Given the description of an element on the screen output the (x, y) to click on. 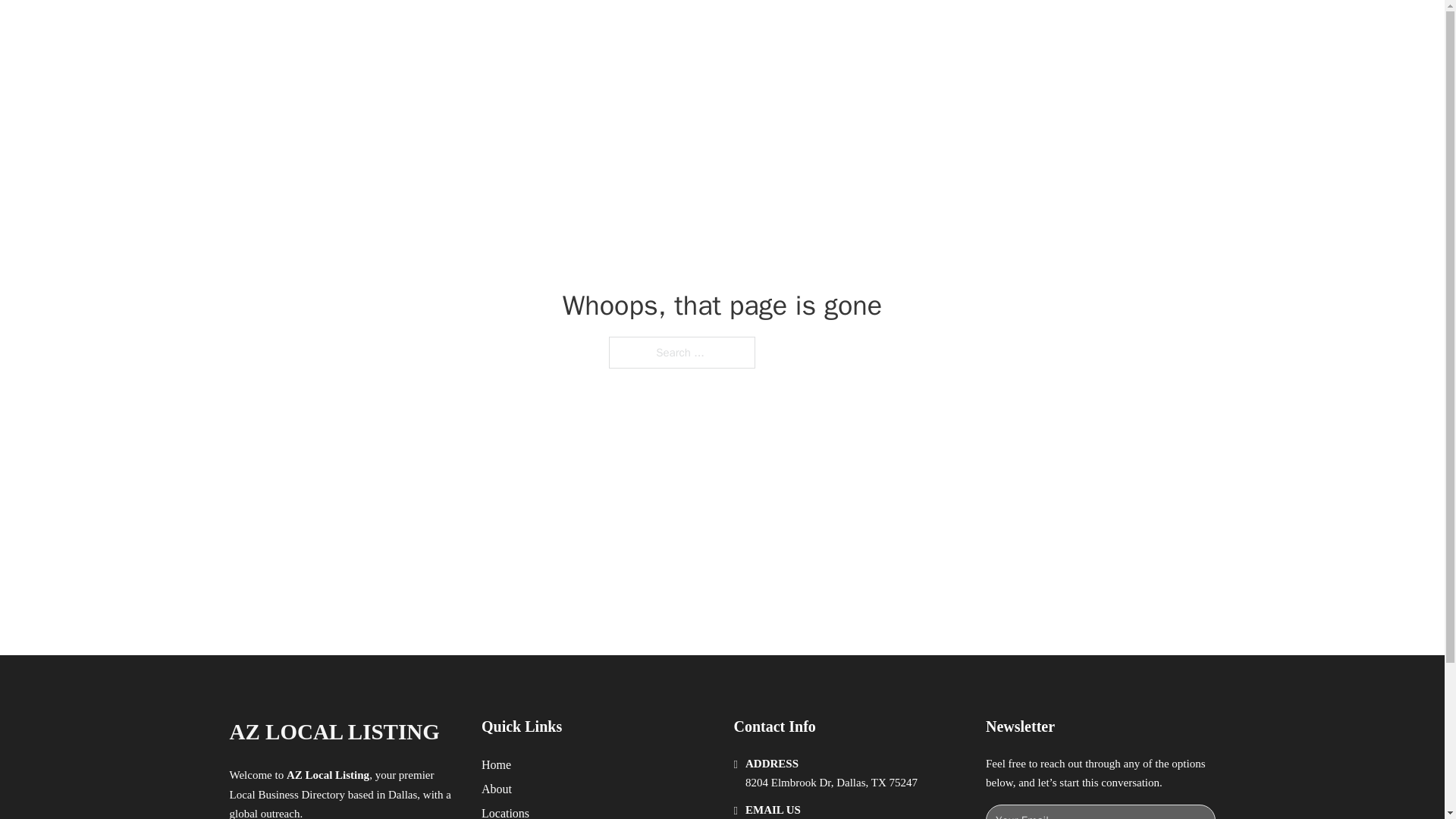
AZ LOCAL LISTING (333, 732)
AZ LOCAL LISTING (401, 28)
HOME (919, 29)
Locations (505, 811)
Home (496, 764)
About (496, 788)
LOCATIONS (990, 29)
